Given the description of an element on the screen output the (x, y) to click on. 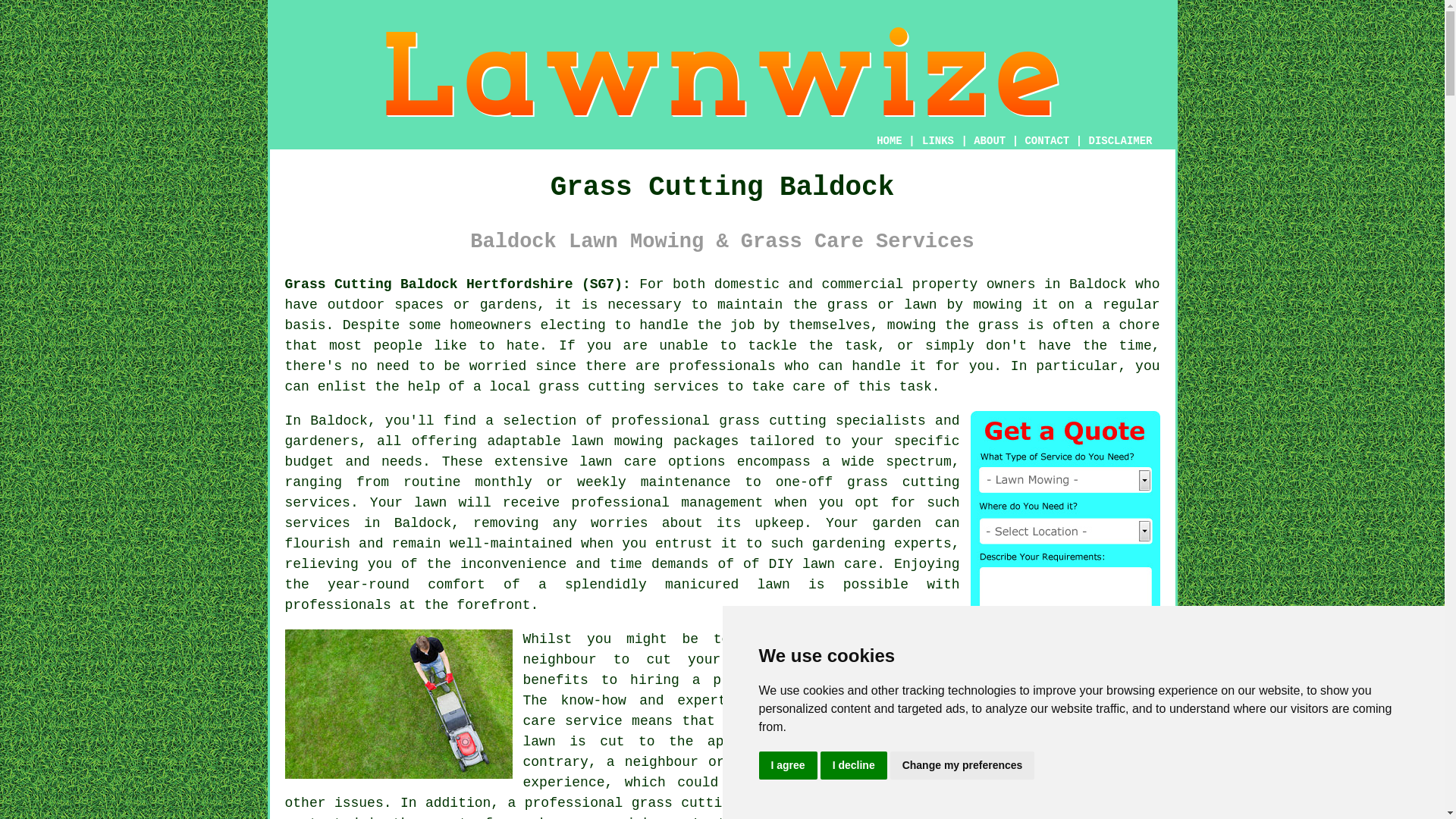
I decline (853, 765)
grass cutting services (622, 492)
I agree (787, 765)
Change my preferences (962, 765)
HOME (889, 141)
LINKS (938, 141)
grass cutting (591, 386)
garden (896, 522)
Grass Cutting Baldock (722, 71)
lawn mowing packages (654, 441)
